Given the description of an element on the screen output the (x, y) to click on. 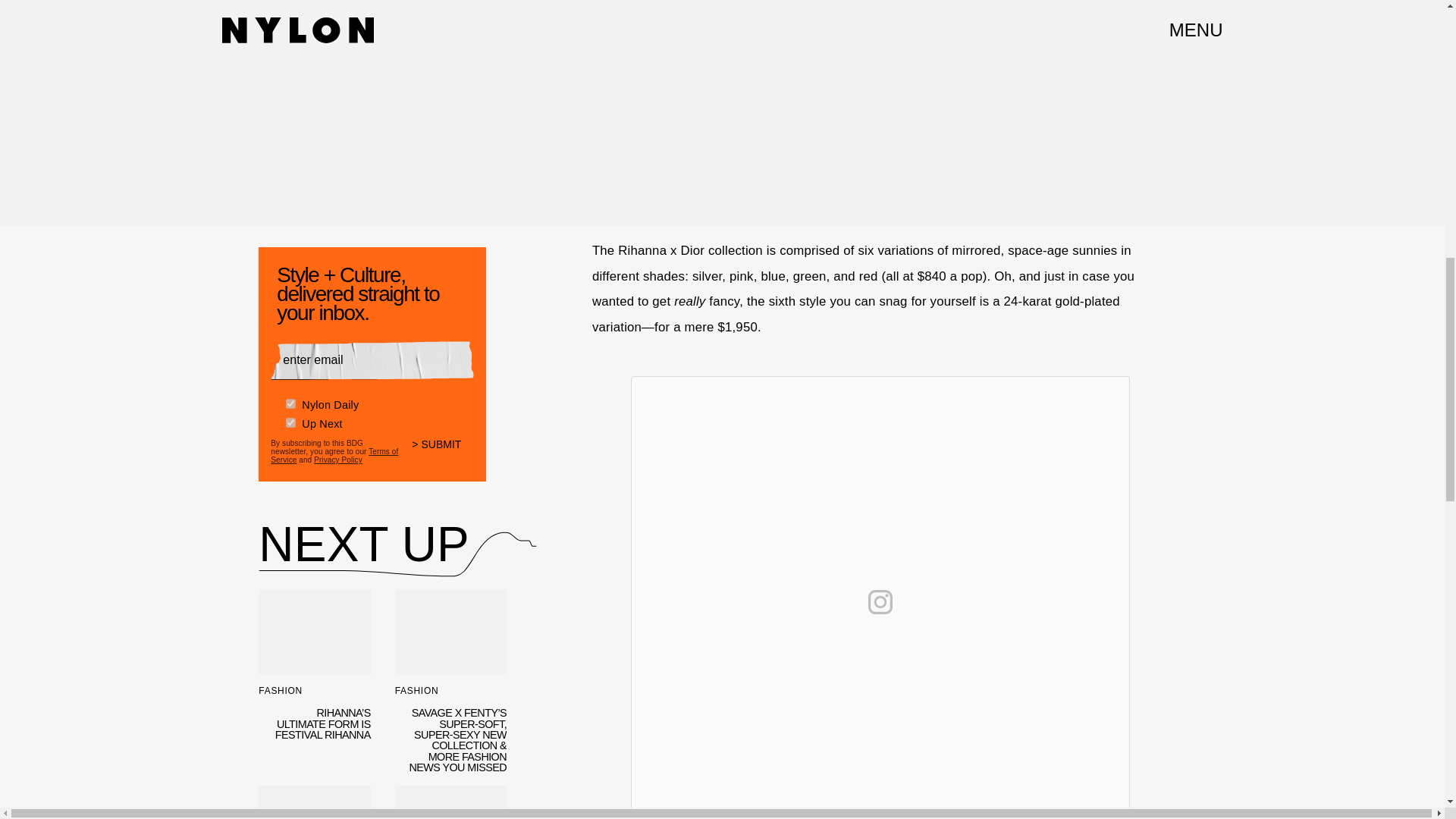
Privacy Policy (338, 459)
SUBMIT (443, 453)
RIHANNA WENT TO CARNIVAL IN A DRAMATIC BEJEWELED ENSEMBLE (450, 802)
Terms of Service (333, 455)
View on Instagram (879, 601)
